Given the description of an element on the screen output the (x, y) to click on. 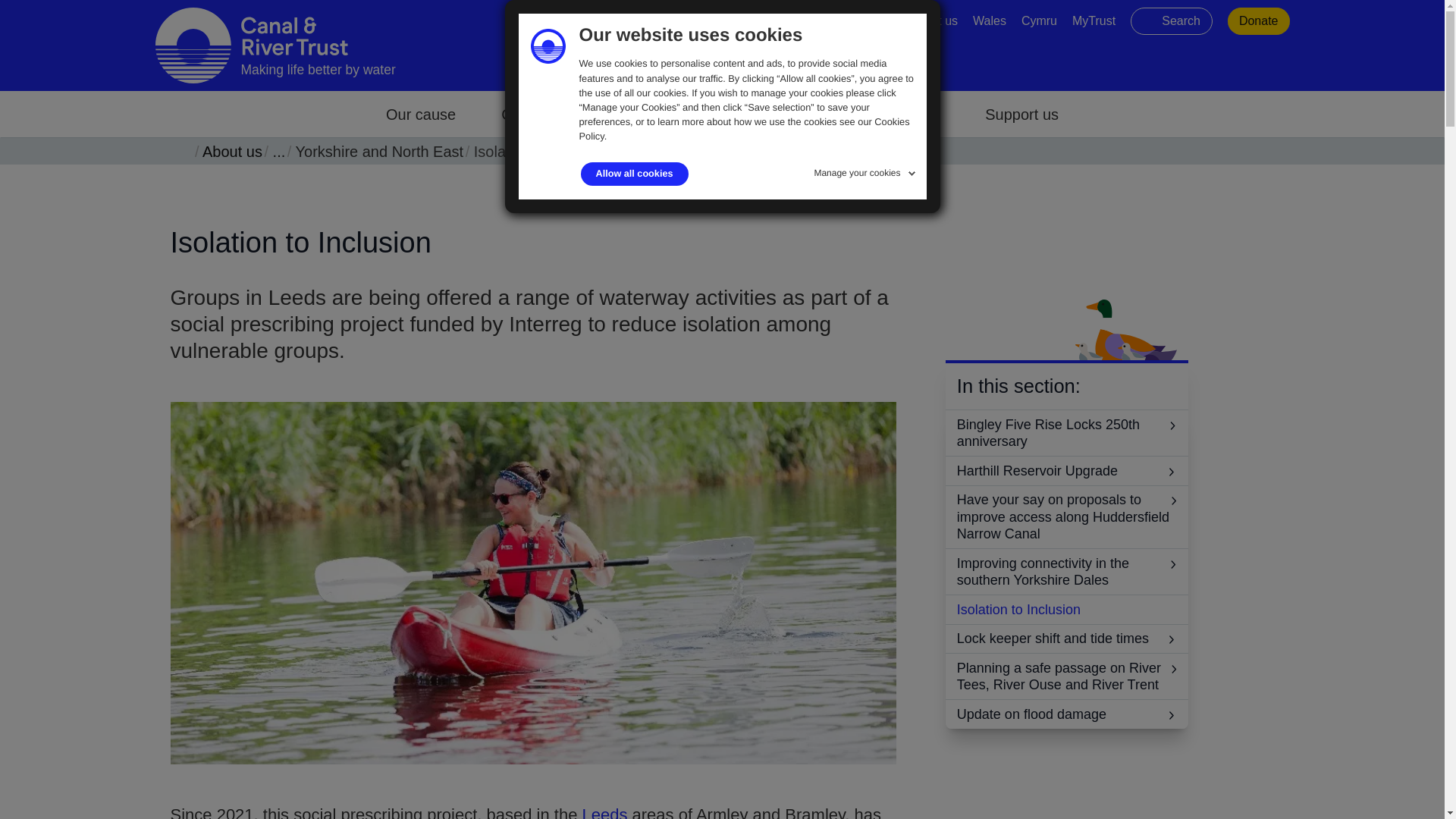
Allow all cookies (634, 174)
Manage your cookies (865, 170)
Cookies Policy. (744, 128)
